Given the description of an element on the screen output the (x, y) to click on. 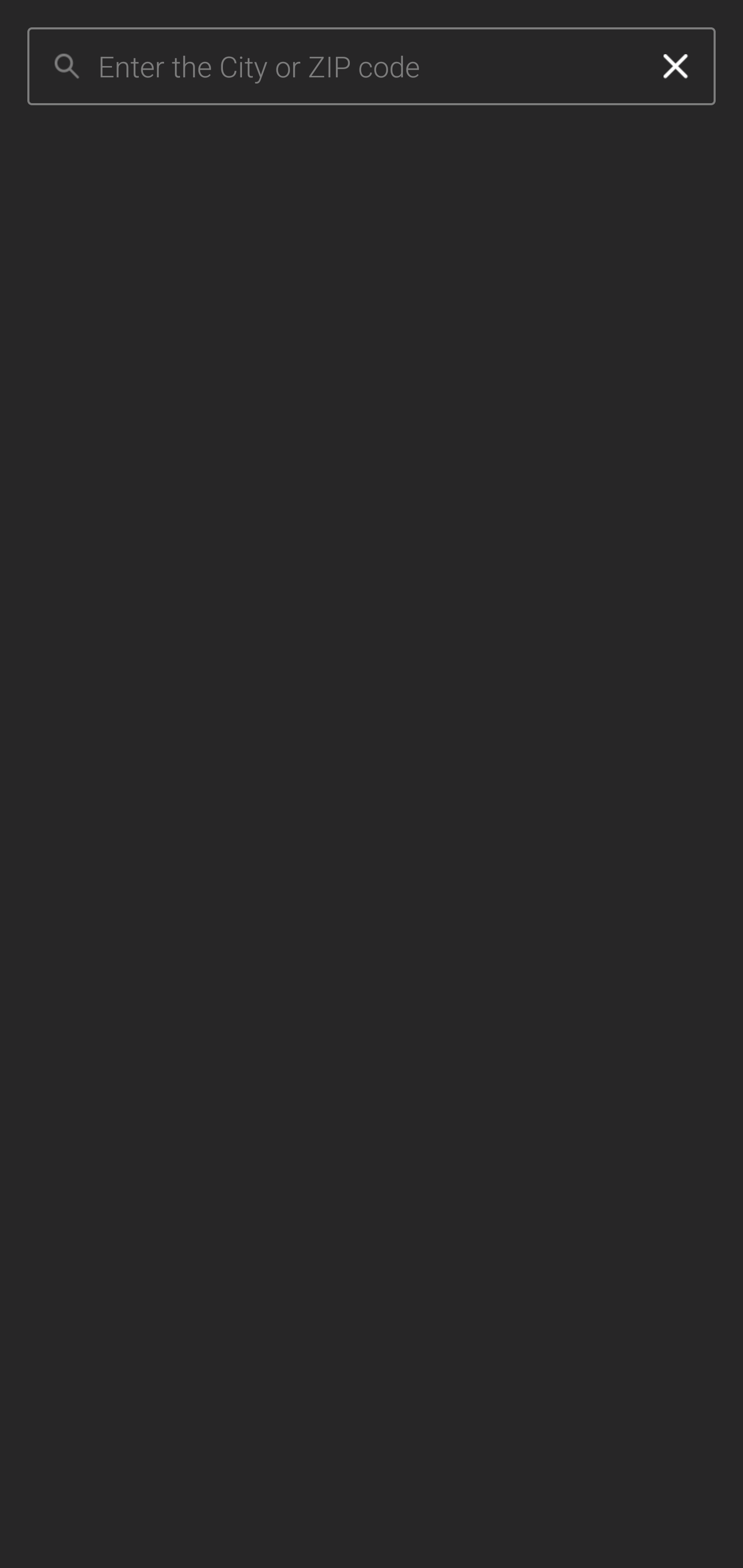
Enter the City or ZIP code (367, 66)
